Given the description of an element on the screen output the (x, y) to click on. 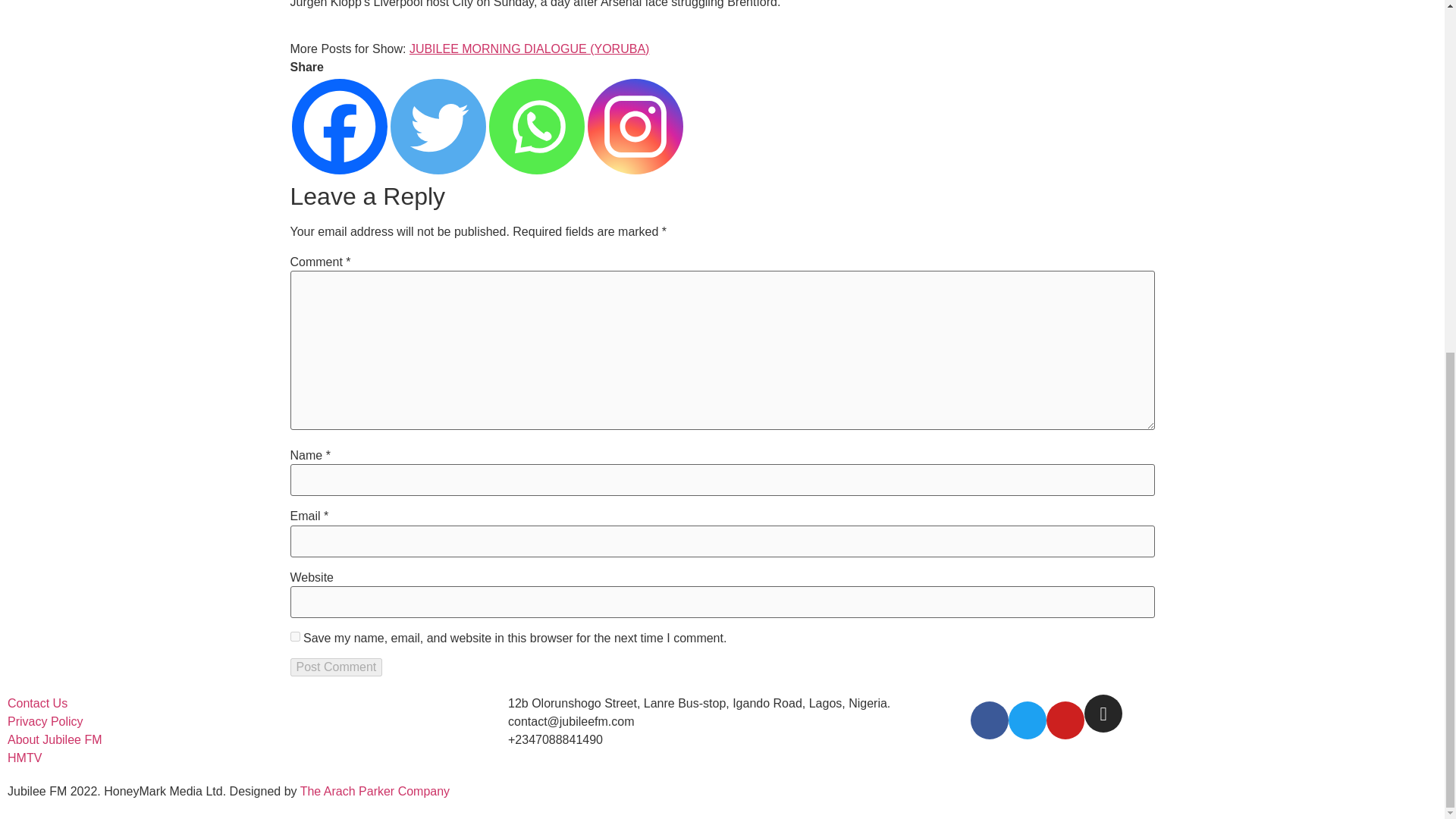
Post Comment (335, 667)
About Jubilee FM (54, 740)
The Arach Parker Company (374, 790)
Facebook (339, 126)
Contact Us (36, 703)
HMTV (24, 758)
Whatsapp (535, 126)
Post Comment (335, 667)
Twitter (437, 126)
Privacy Policy (44, 721)
